Given the description of an element on the screen output the (x, y) to click on. 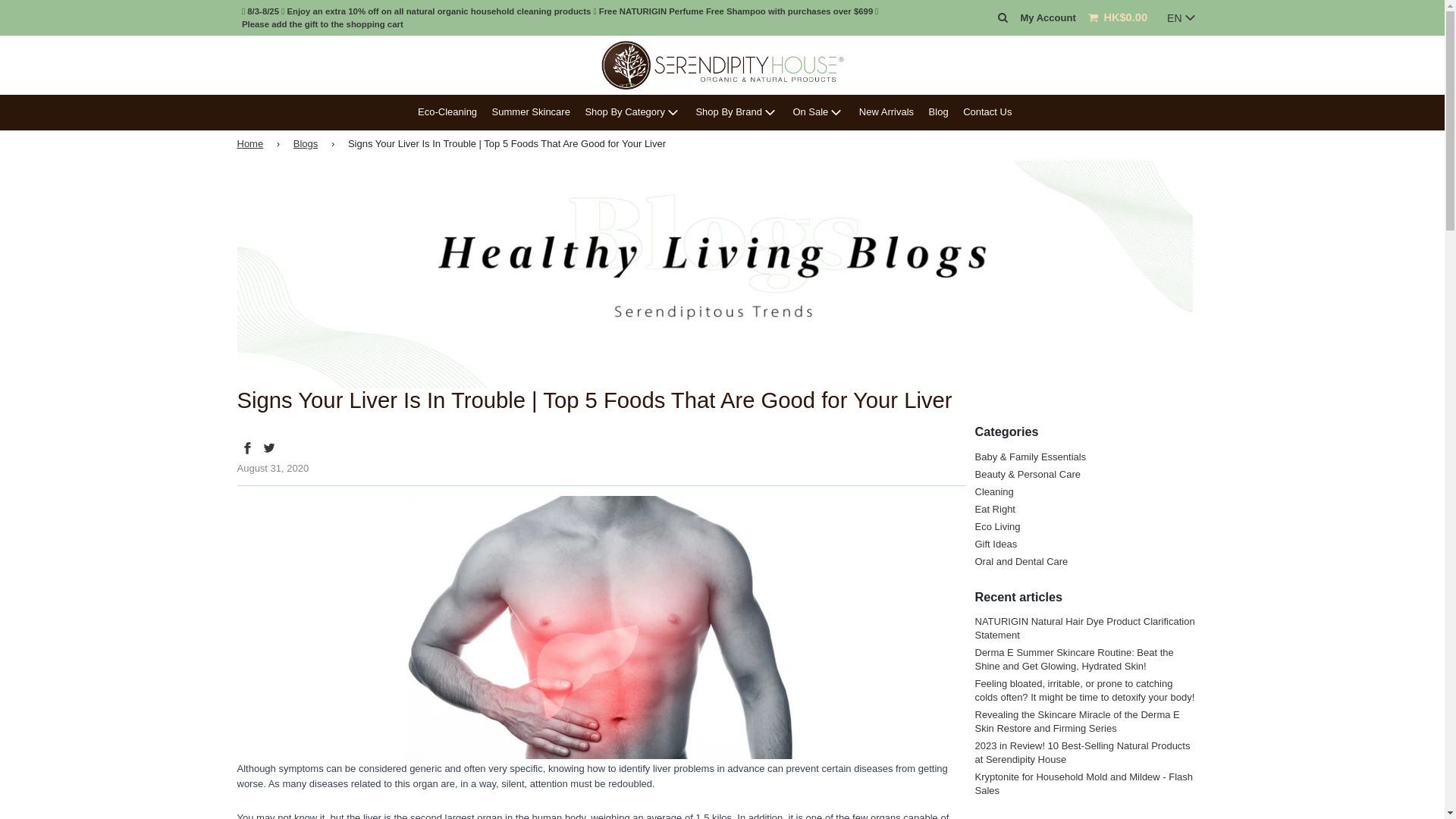
Show articles tagged Eat Right (994, 509)
Show articles tagged Oral and Dental Care (1021, 561)
Back to the frontpage (251, 143)
EN (1182, 18)
Show articles tagged Gift Ideas (996, 543)
Log in (1047, 17)
Show articles tagged Eco Living (997, 526)
Show articles tagged Cleaning (994, 491)
My Account (1047, 17)
